Given the description of an element on the screen output the (x, y) to click on. 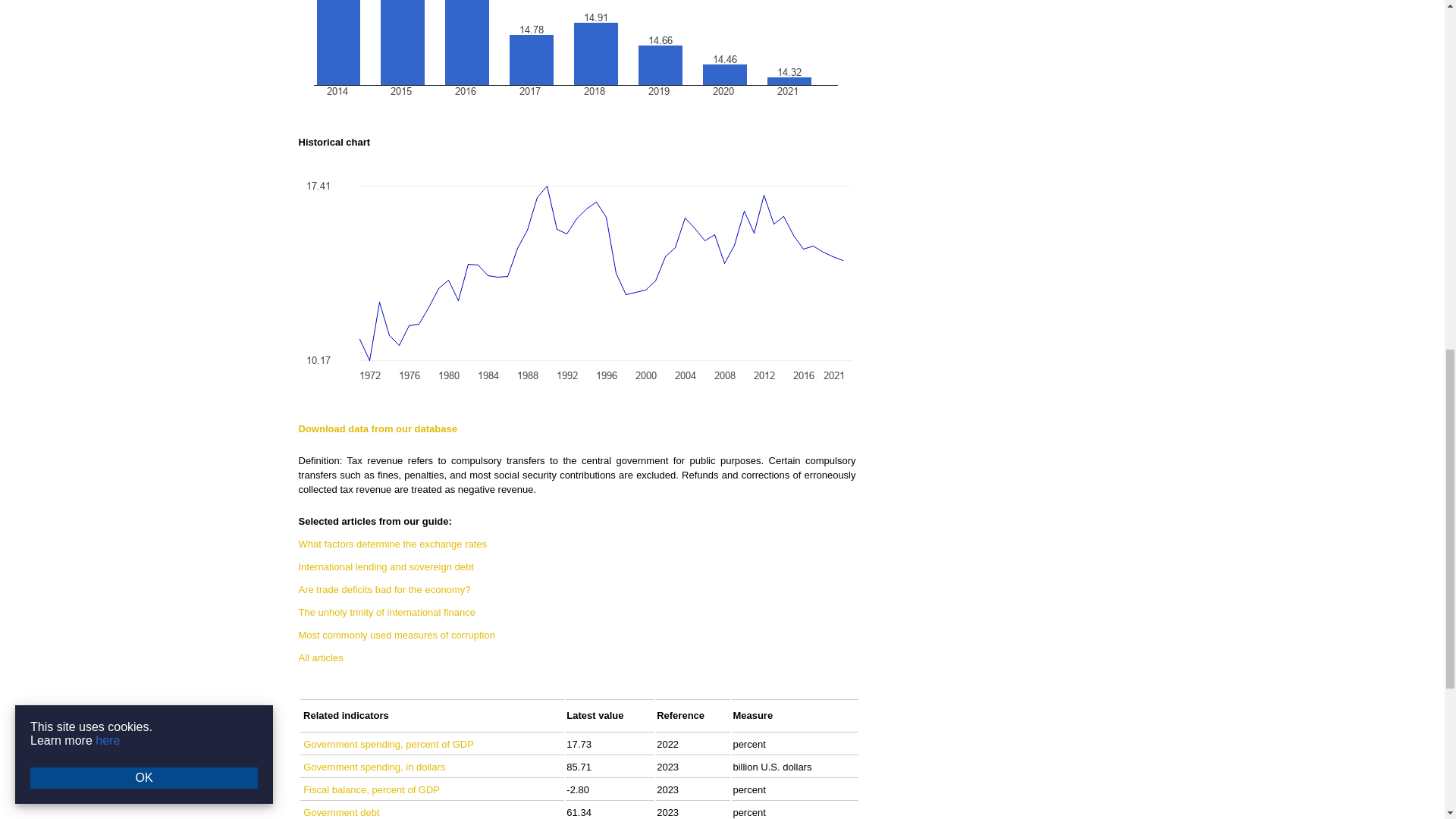
What factors determine the exchange rates (392, 543)
Download data from our database (377, 428)
